Given the description of an element on the screen output the (x, y) to click on. 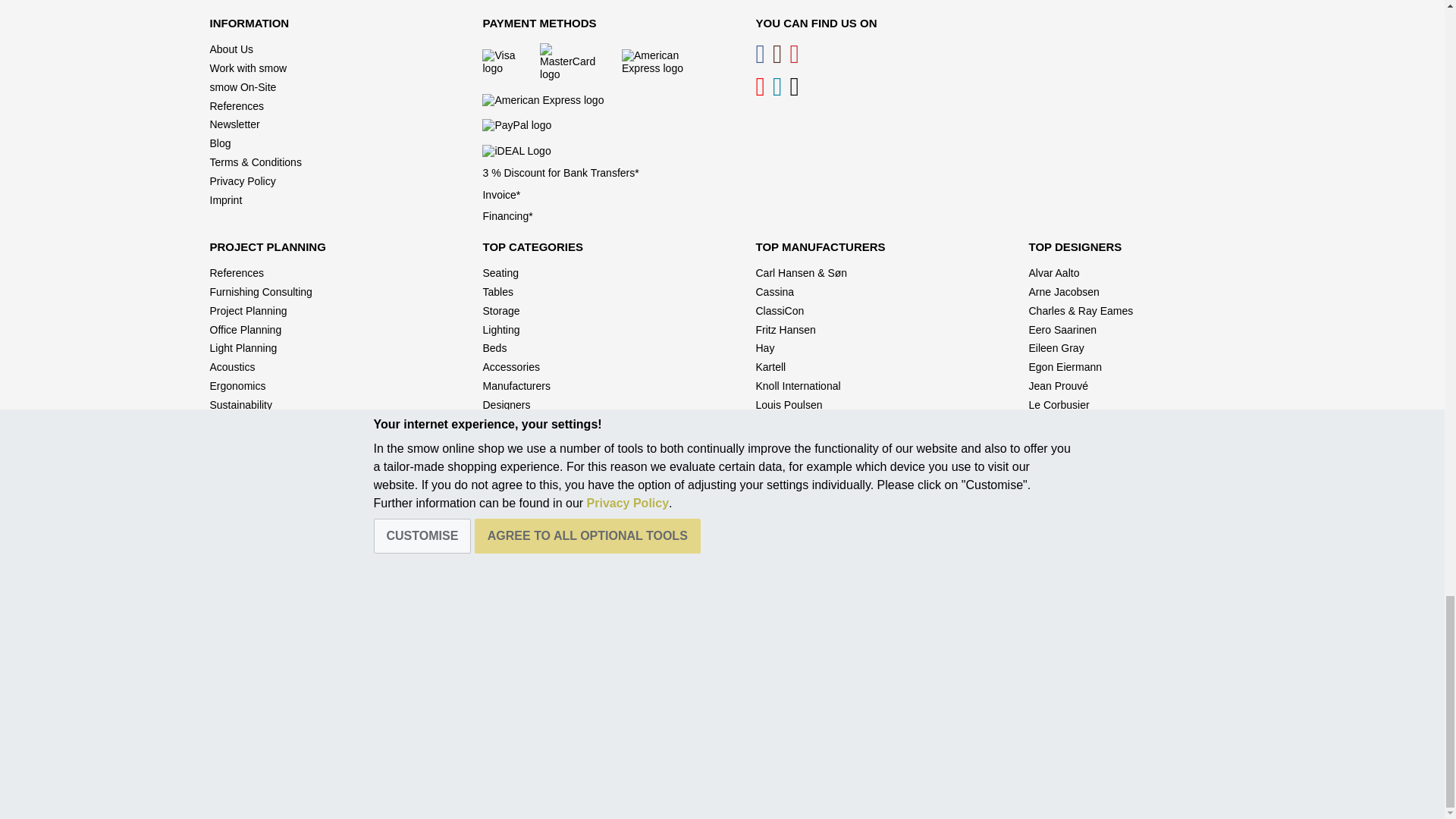
Payment (603, 62)
Payment (603, 125)
Payment (603, 99)
Payment (603, 150)
